Given the description of an element on the screen output the (x, y) to click on. 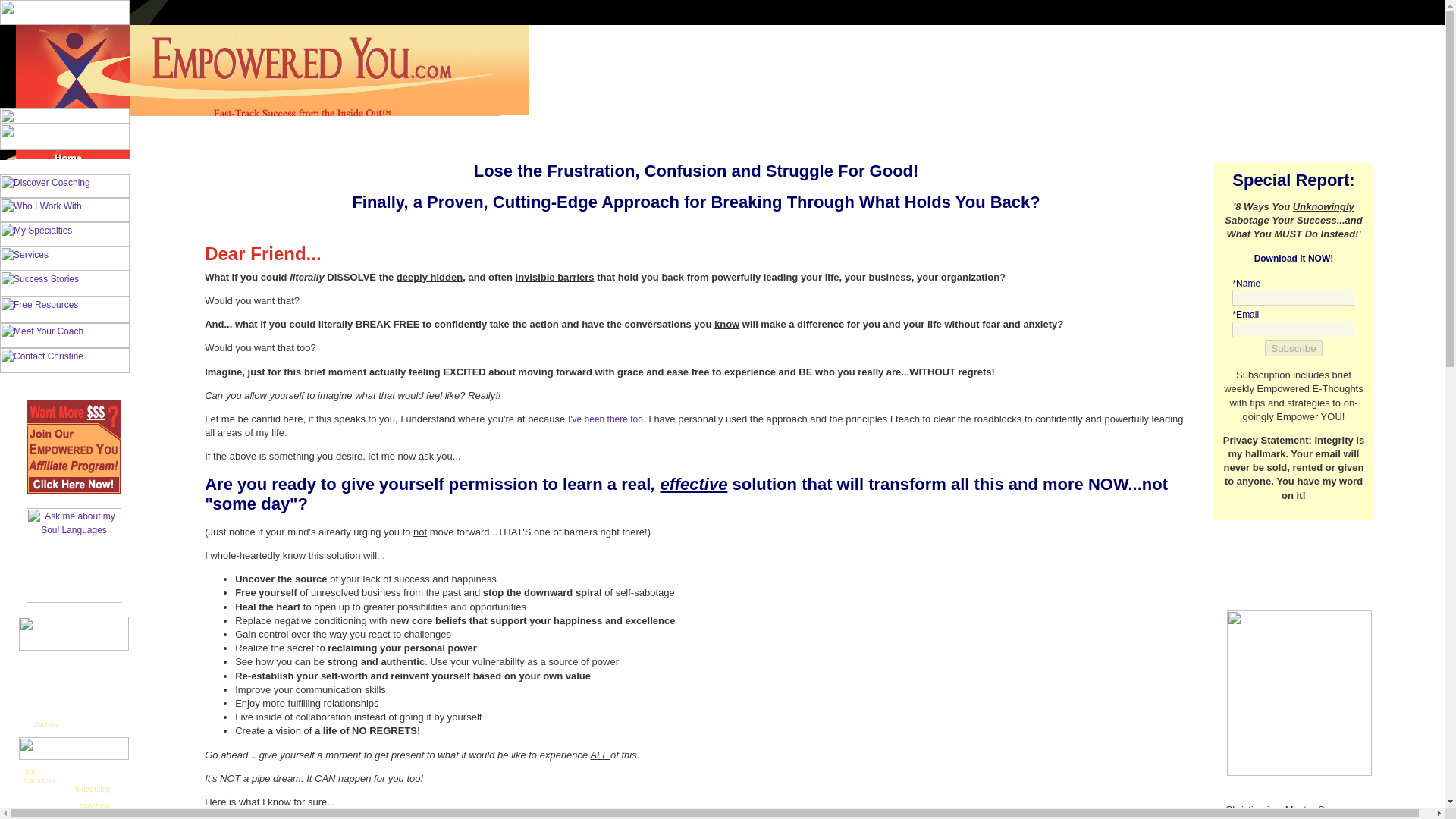
I've been there too (605, 419)
coaching (95, 805)
My Story (605, 419)
Subscribe (1293, 348)
Ask me about my Soul Languages (73, 554)
leadership (92, 787)
transition (39, 779)
life (30, 771)
discuss (45, 724)
